Given the description of an element on the screen output the (x, y) to click on. 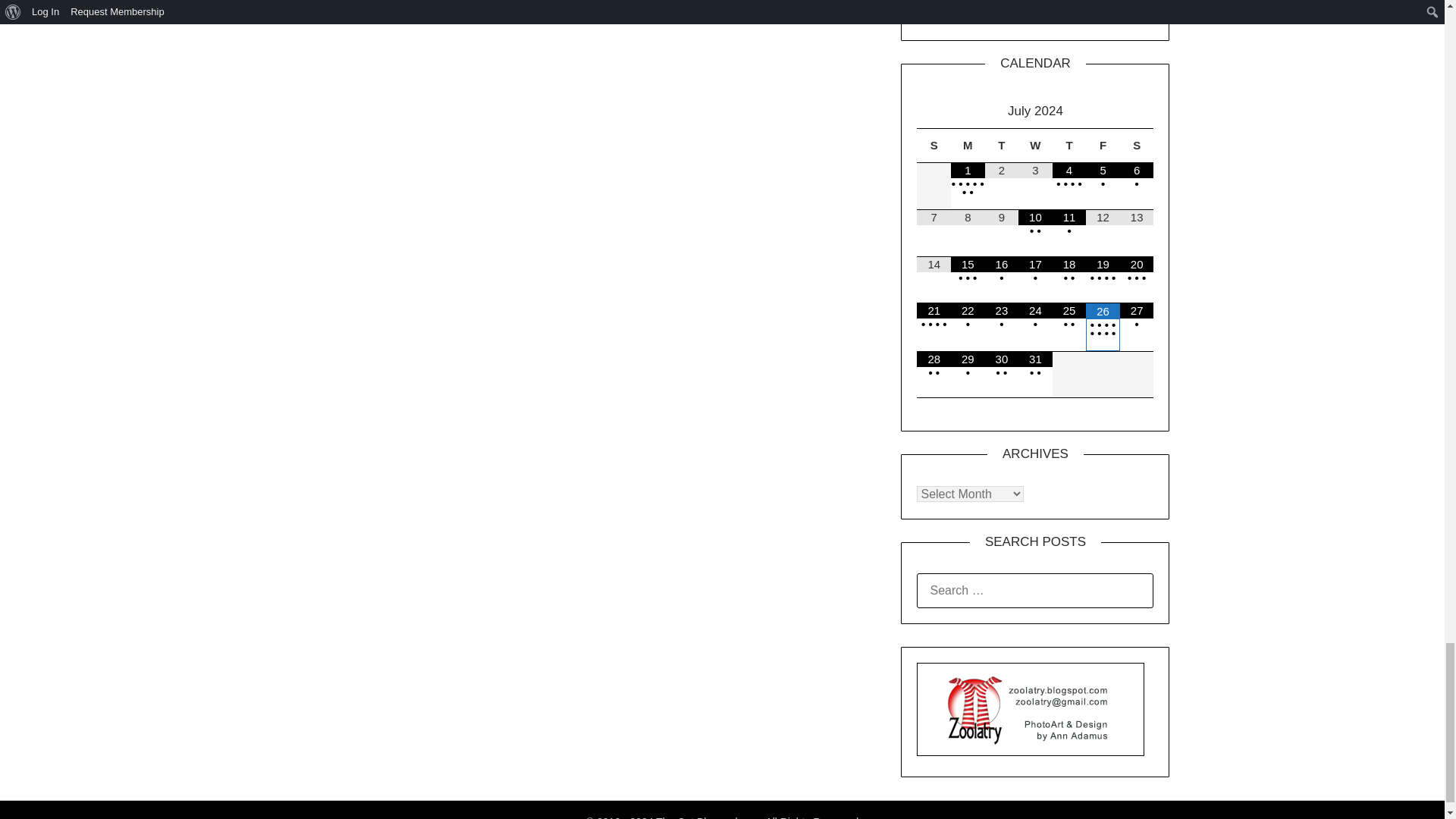
Next Month (1136, 111)
Previous Month (933, 111)
